Given the description of an element on the screen output the (x, y) to click on. 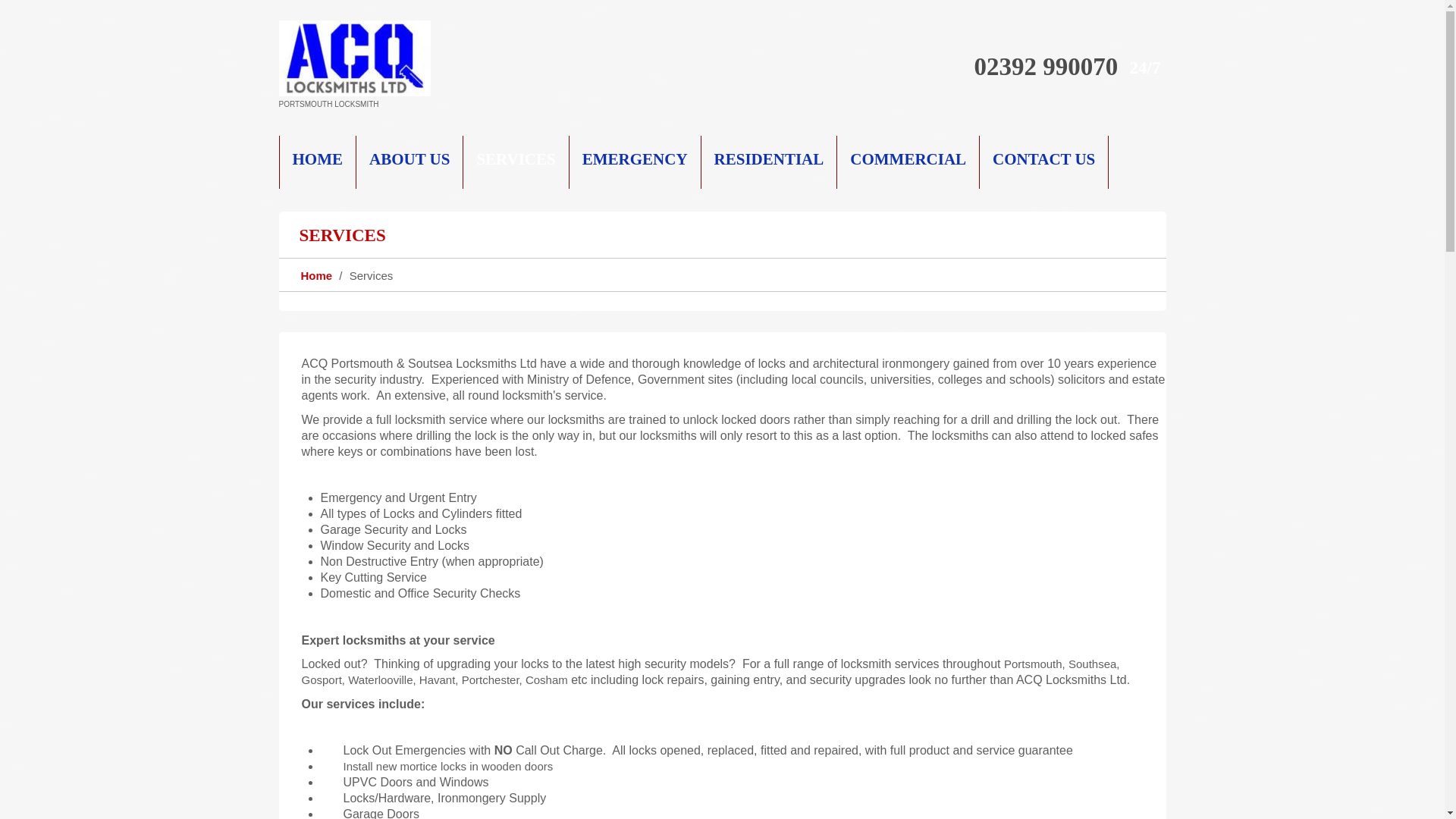
SERVICES (516, 161)
HOME (317, 161)
Portsmouth Locksmith (354, 58)
ABOUT US (409, 161)
CONTACT US (1043, 161)
EMERGENCY (635, 161)
COMMERCIAL (908, 161)
RESIDENTIAL (769, 161)
Home (315, 275)
